Given the description of an element on the screen output the (x, y) to click on. 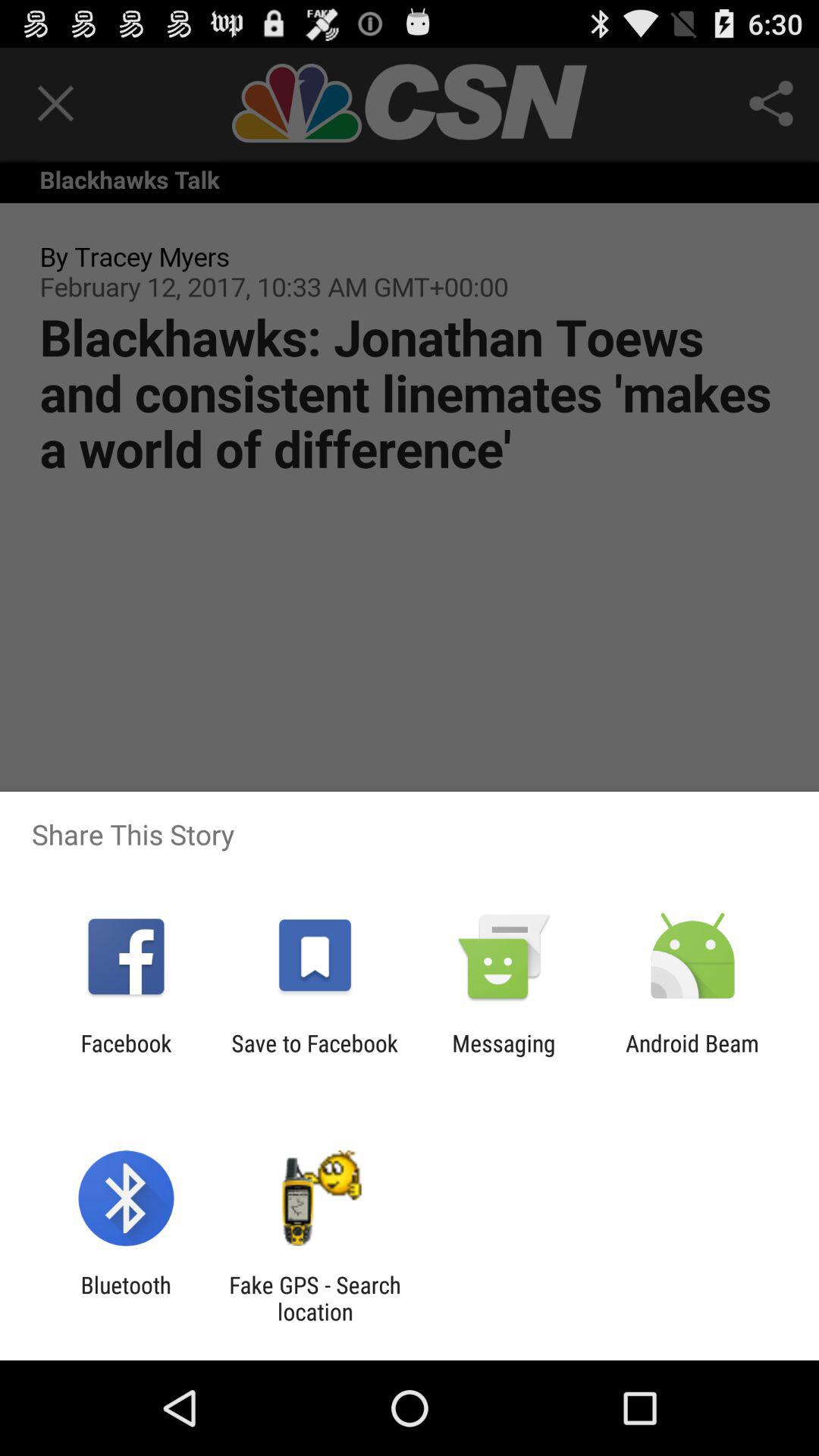
press app to the right of the facebook (314, 1056)
